Given the description of an element on the screen output the (x, y) to click on. 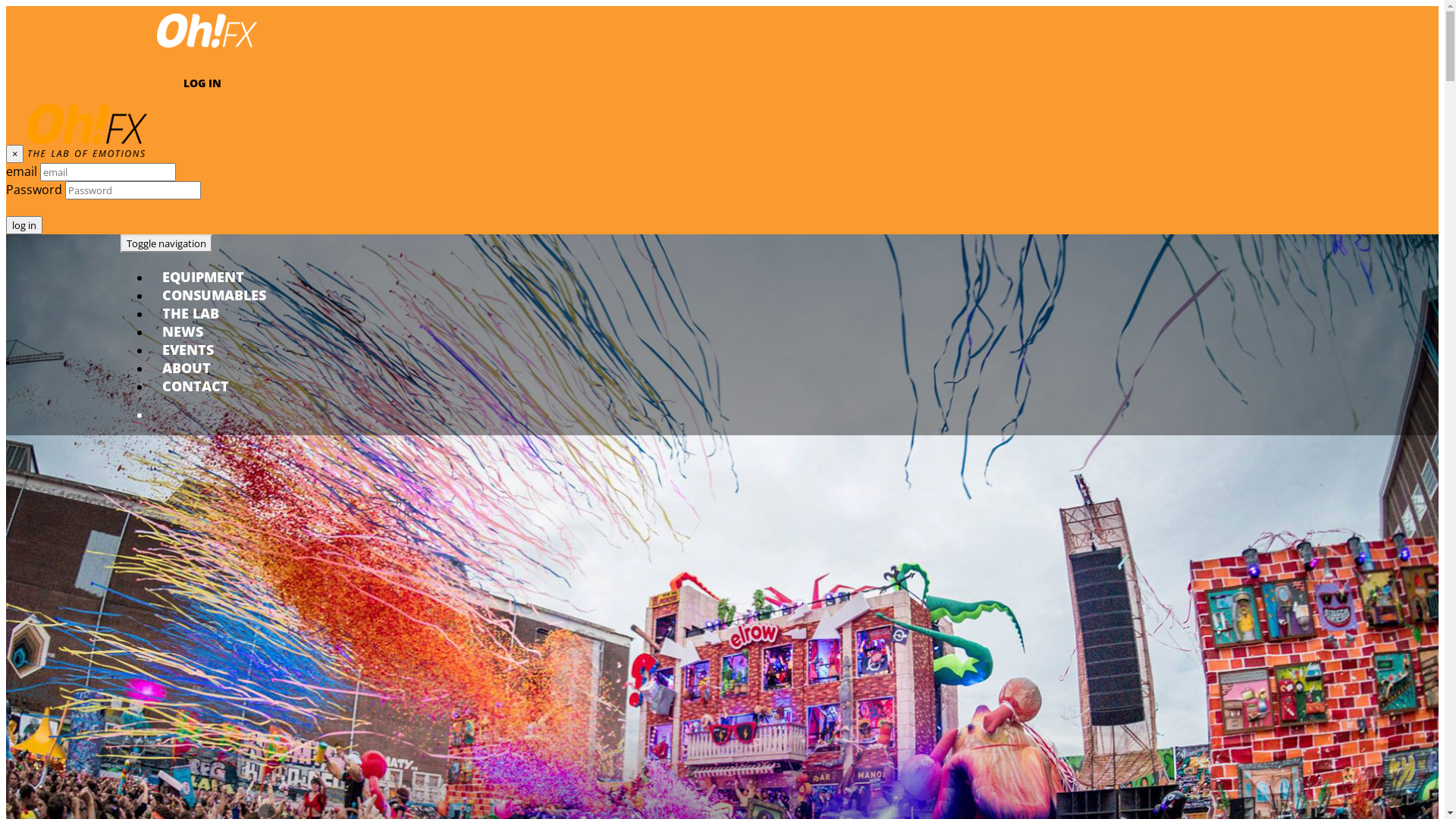
THE LAB Element type: text (190, 313)
NEWS Element type: text (182, 331)
EVENTS Element type: text (187, 349)
LOG IN Element type: text (202, 82)
Toggle navigation Element type: text (166, 243)
ohfx Element type: hover (206, 50)
log in Element type: text (24, 225)
CONTACT Element type: text (195, 385)
0 Element type: text (252, 414)
ABOUT Element type: text (186, 367)
EQUIPMENT Element type: text (203, 276)
CONSUMABLES Element type: text (214, 294)
